Given the description of an element on the screen output the (x, y) to click on. 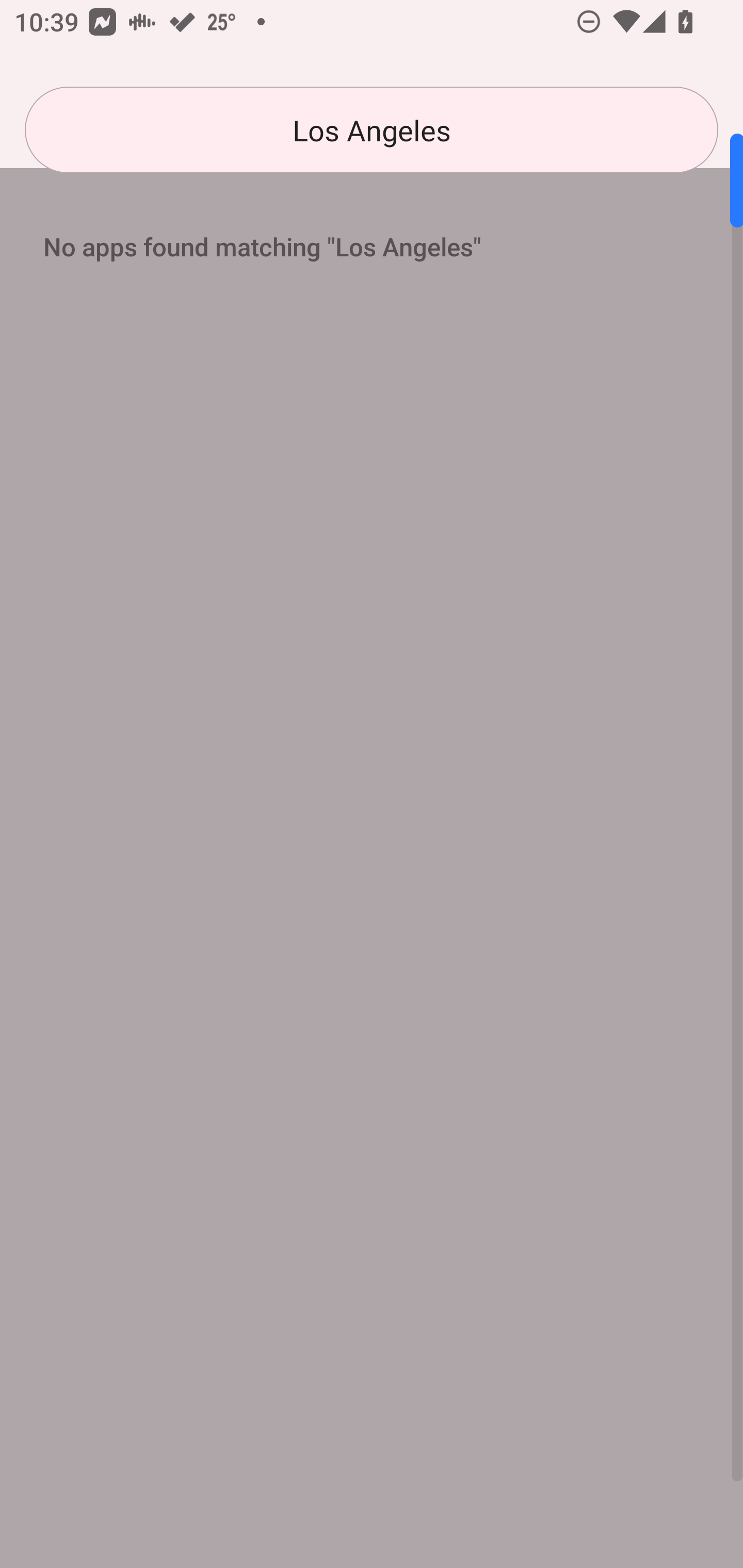
Los Angeles (371, 130)
